Given the description of an element on the screen output the (x, y) to click on. 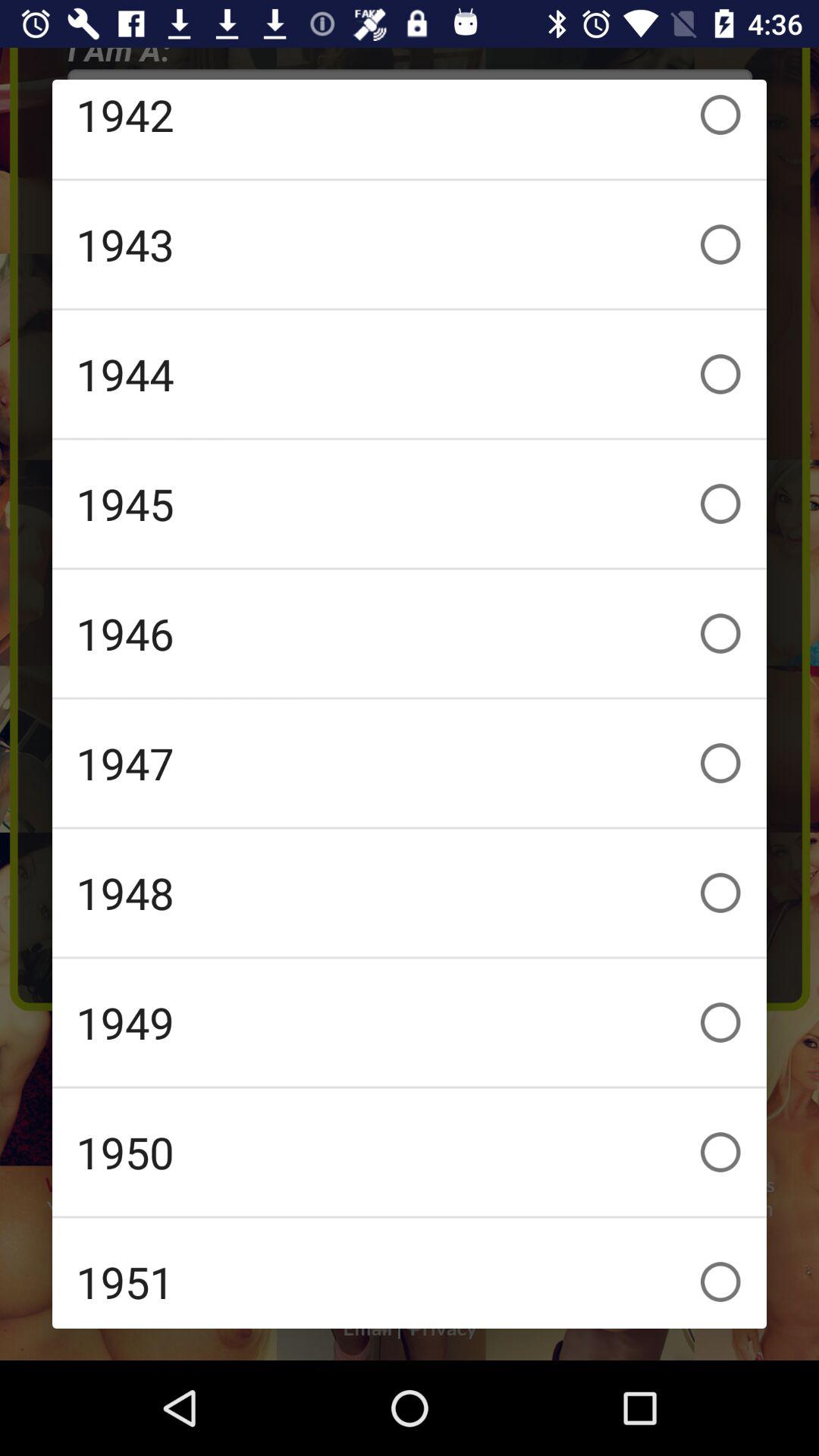
click item above 1946 item (409, 503)
